Given the description of an element on the screen output the (x, y) to click on. 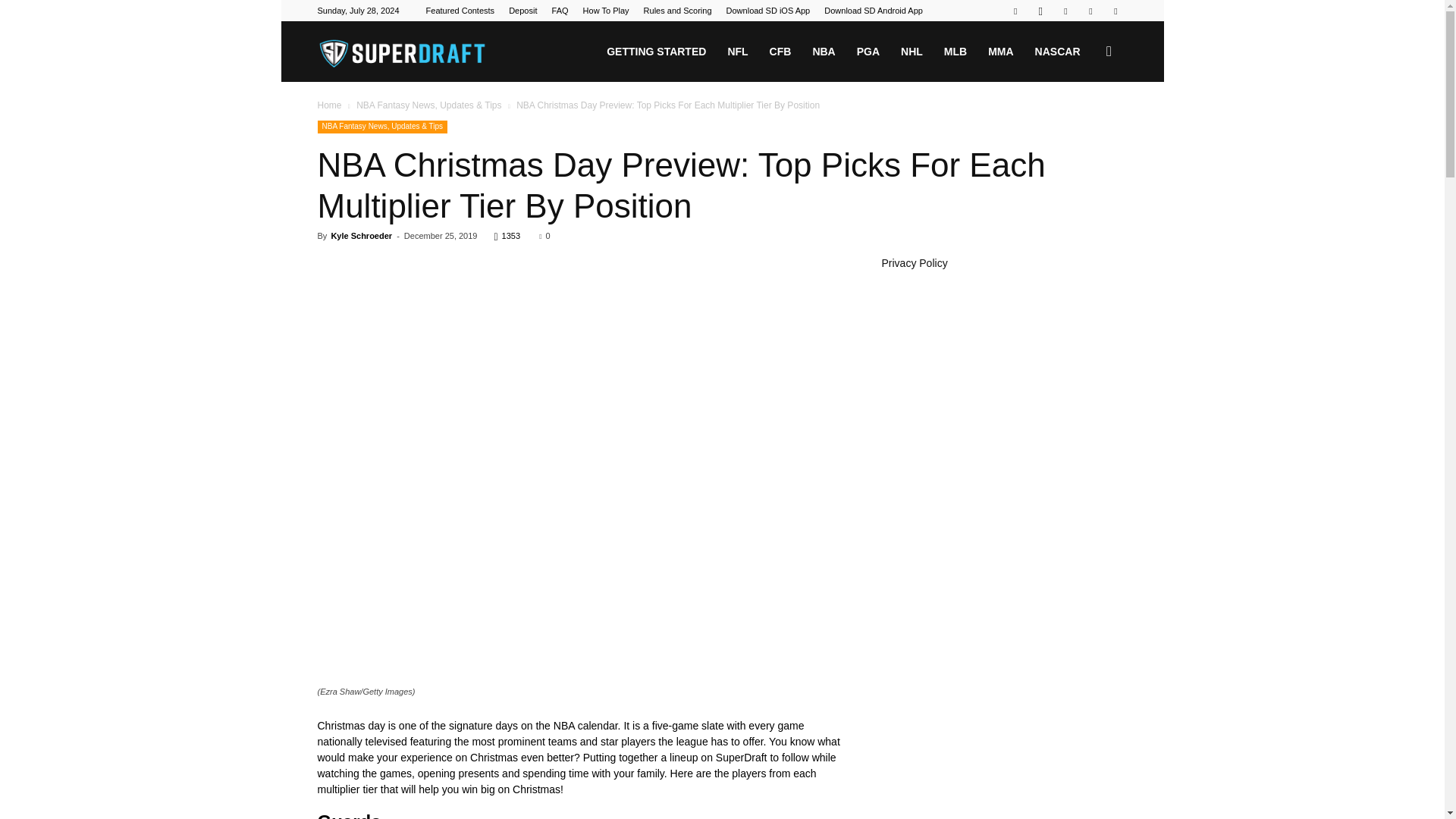
How To Play (605, 10)
Youtube (1114, 10)
FAQ (560, 10)
Facebook (1015, 10)
Rules and Scoring (677, 10)
Twitch (1065, 10)
Instagram (1040, 10)
Download SD Android App (873, 10)
Deposit (522, 10)
Twitter (1090, 10)
Download SD iOS App (768, 10)
Featured Contests (460, 10)
